Given the description of an element on the screen output the (x, y) to click on. 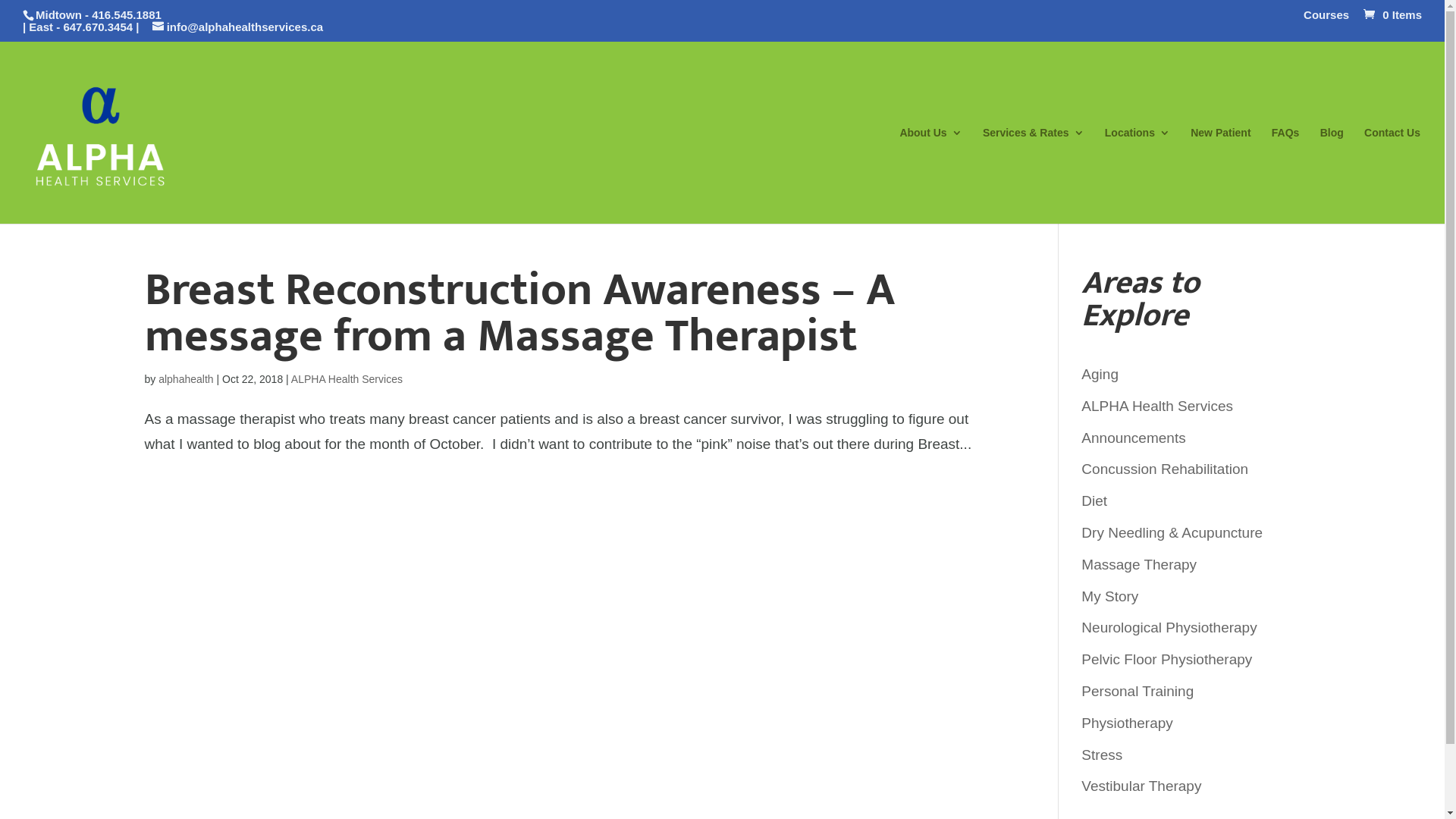
Physiotherapy Element type: text (1126, 723)
Personal Training Element type: text (1137, 691)
Contact Us Element type: text (1392, 175)
Dry Needling & Acupuncture Element type: text (1171, 532)
ALPHA Health Services Element type: text (1157, 406)
ALPHA Health Services Element type: text (346, 379)
Courses Element type: text (1326, 18)
New Patient Element type: text (1220, 175)
Stress Element type: text (1101, 754)
Locations Element type: text (1137, 175)
647.670.3454 Element type: text (97, 26)
Blog Element type: text (1331, 175)
Diet Element type: text (1094, 500)
alphahealth Element type: text (185, 379)
Vestibular Therapy Element type: text (1141, 785)
Neurological Physiotherapy Element type: text (1168, 627)
Pelvic Floor Physiotherapy Element type: text (1166, 659)
0 Items Element type: text (1390, 14)
FAQs Element type: text (1285, 175)
My Story Element type: text (1109, 596)
info@alphahealthservices.ca Element type: text (237, 26)
Aging Element type: text (1099, 374)
About Us Element type: text (930, 175)
Announcements Element type: text (1133, 437)
Massage Therapy Element type: text (1138, 564)
Concussion Rehabilitation Element type: text (1164, 468)
Midtown - 416.545.1881 Element type: text (98, 14)
Services & Rates Element type: text (1033, 175)
